Given the description of an element on the screen output the (x, y) to click on. 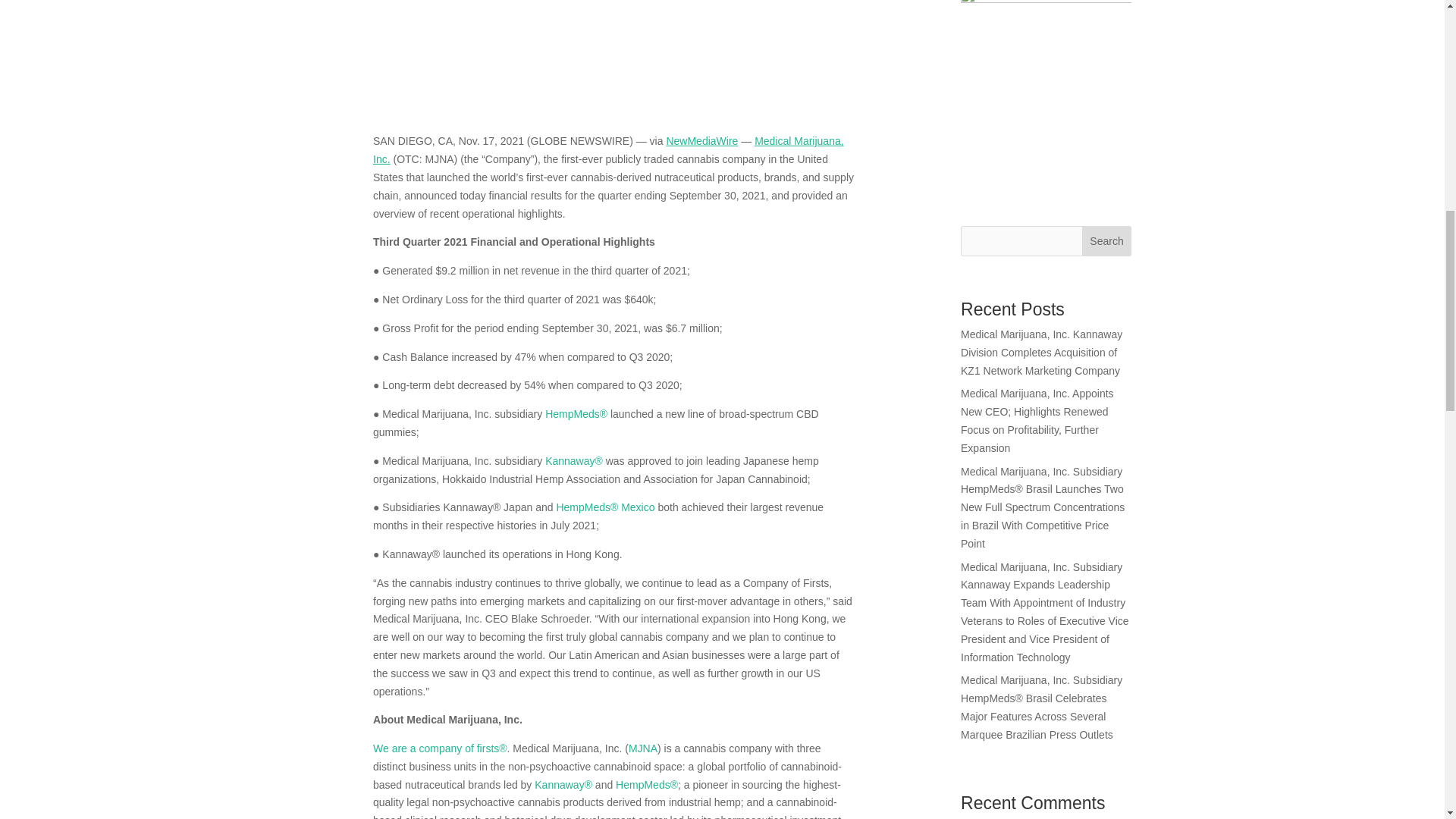
NewMediaWire (701, 141)
Medical Marijuana, Inc. (608, 150)
